Given the description of an element on the screen output the (x, y) to click on. 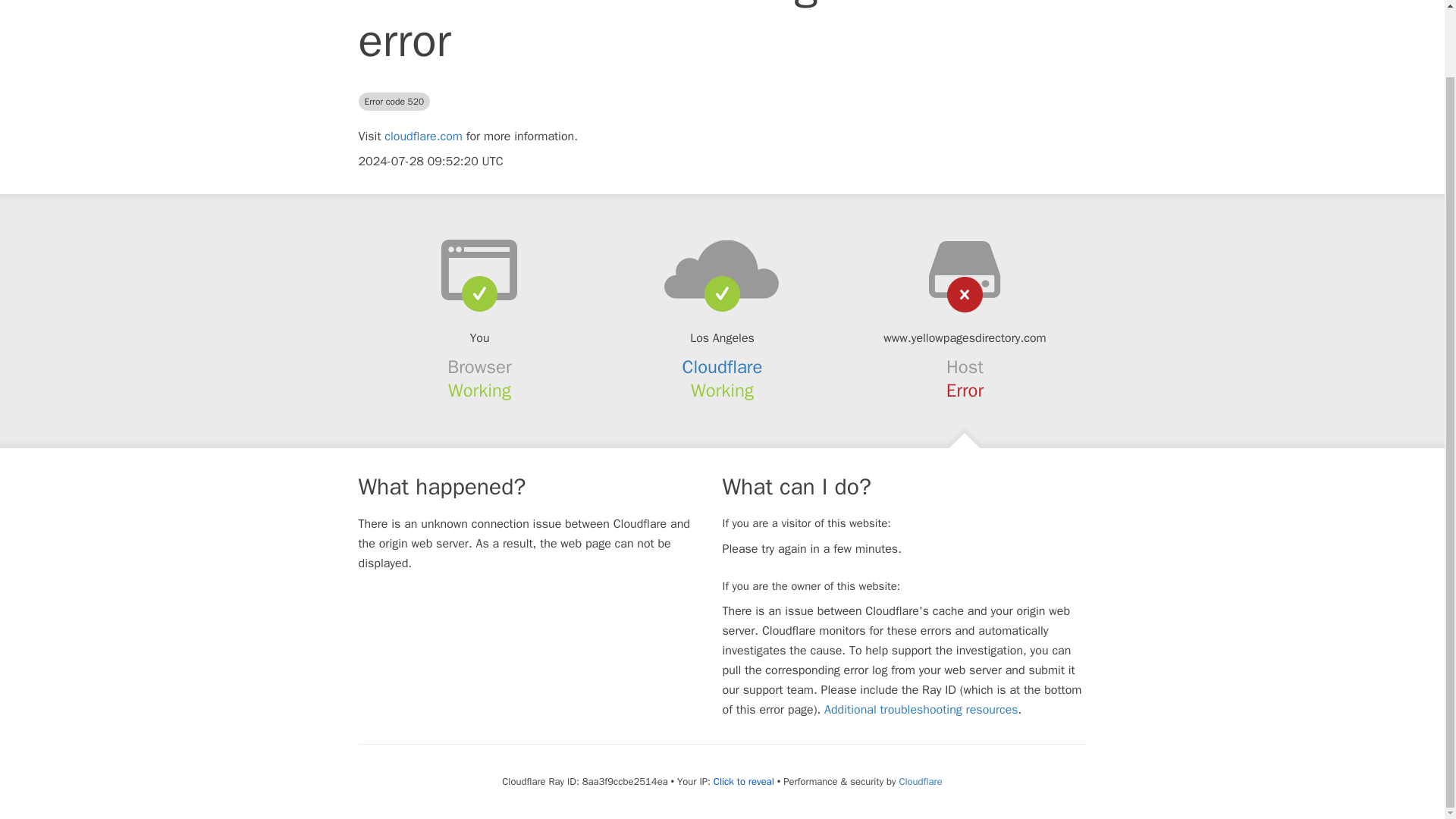
Click to reveal (743, 781)
Cloudflare (722, 366)
Additional troubleshooting resources (920, 709)
Cloudflare (920, 780)
cloudflare.com (423, 136)
